Given the description of an element on the screen output the (x, y) to click on. 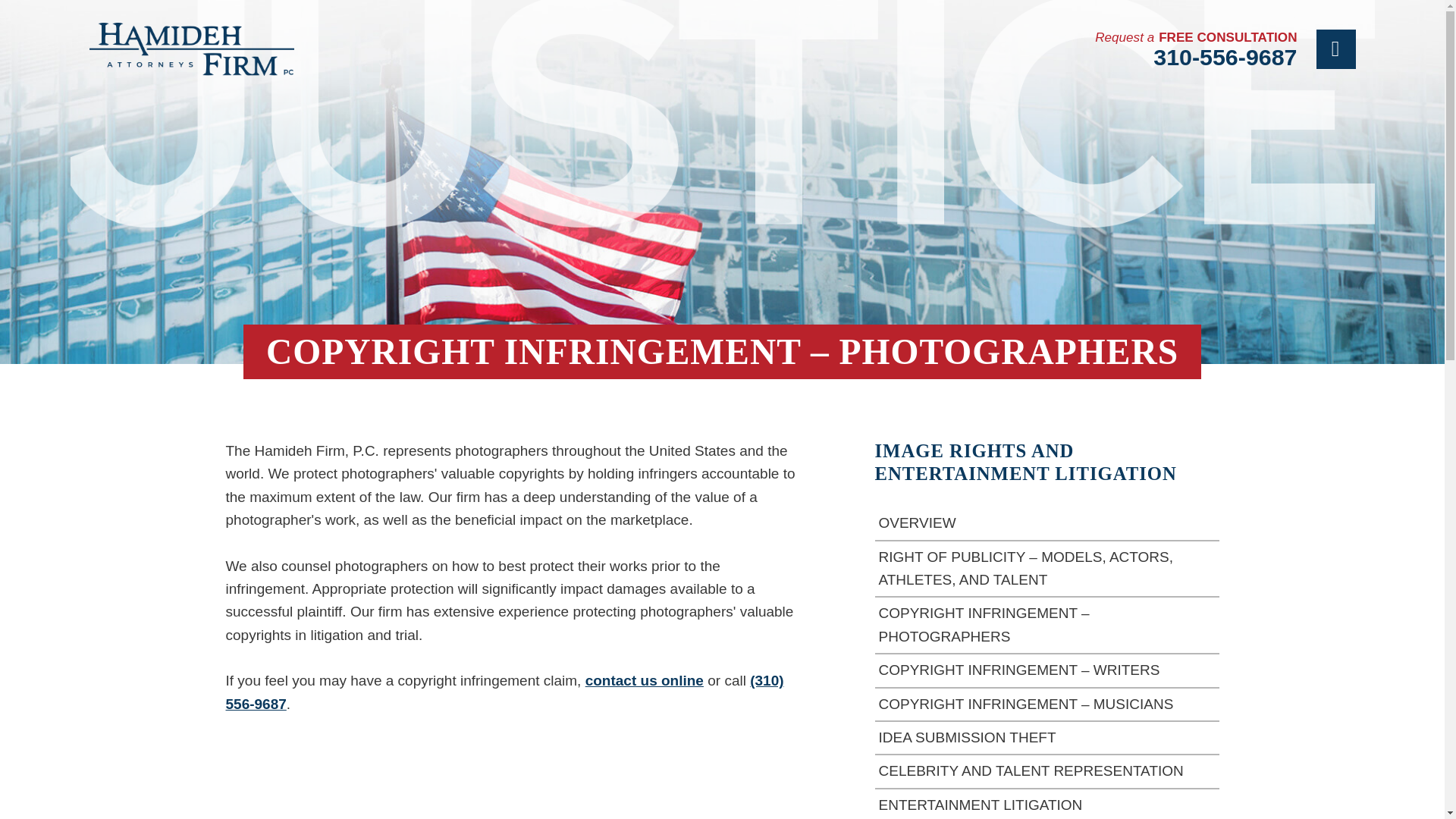
IDEA SUBMISSION THEFT (1047, 738)
OVERVIEW (1047, 523)
contact us online (644, 680)
CELEBRITY AND TALENT REPRESENTATION (1047, 771)
310-556-9687 (1195, 56)
OPEN MENU (1335, 48)
ENTERTAINMENT LITIGATION (1047, 804)
